Given the description of an element on the screen output the (x, y) to click on. 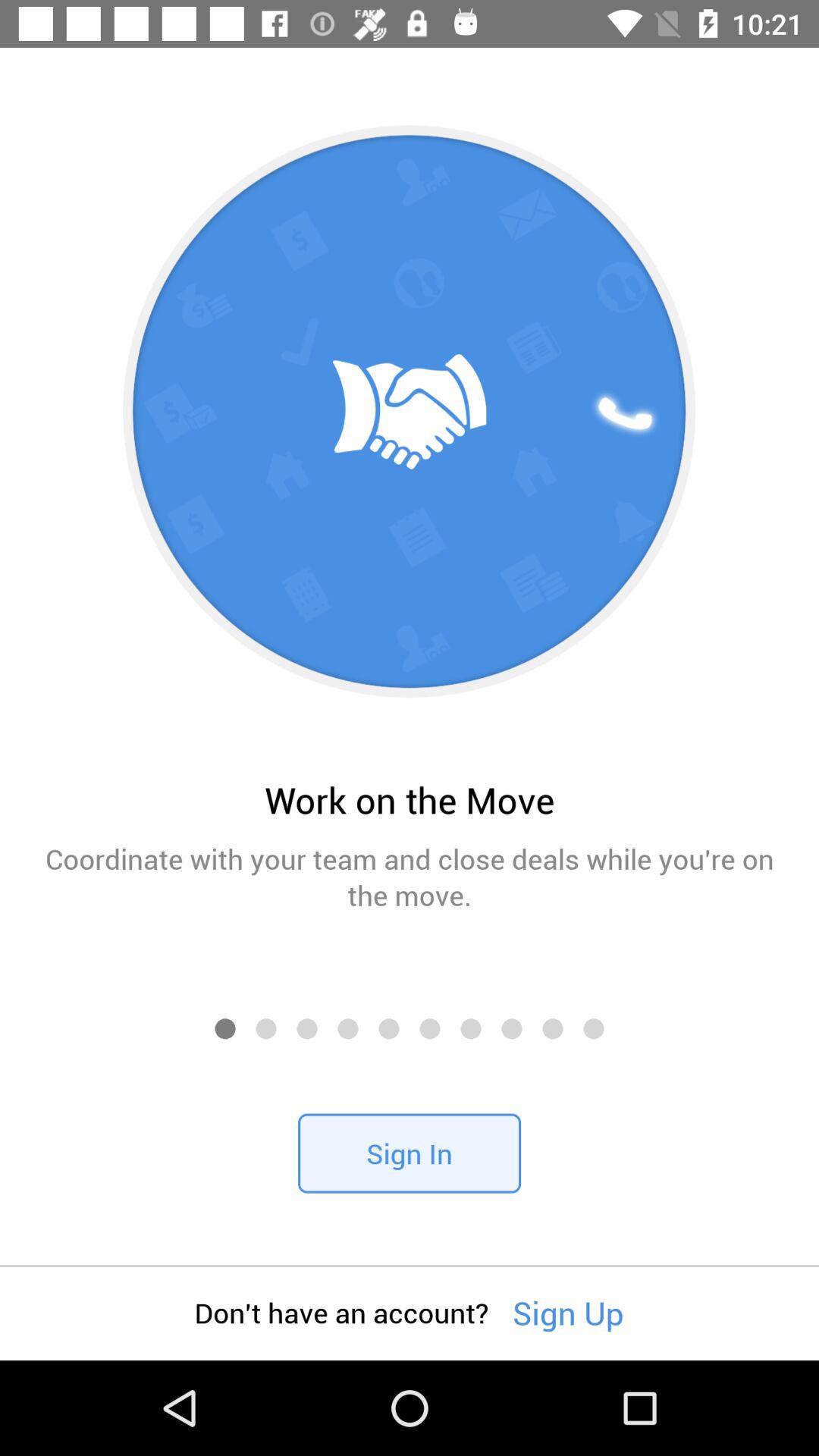
select the first image on the web page (409, 411)
